Given the description of an element on the screen output the (x, y) to click on. 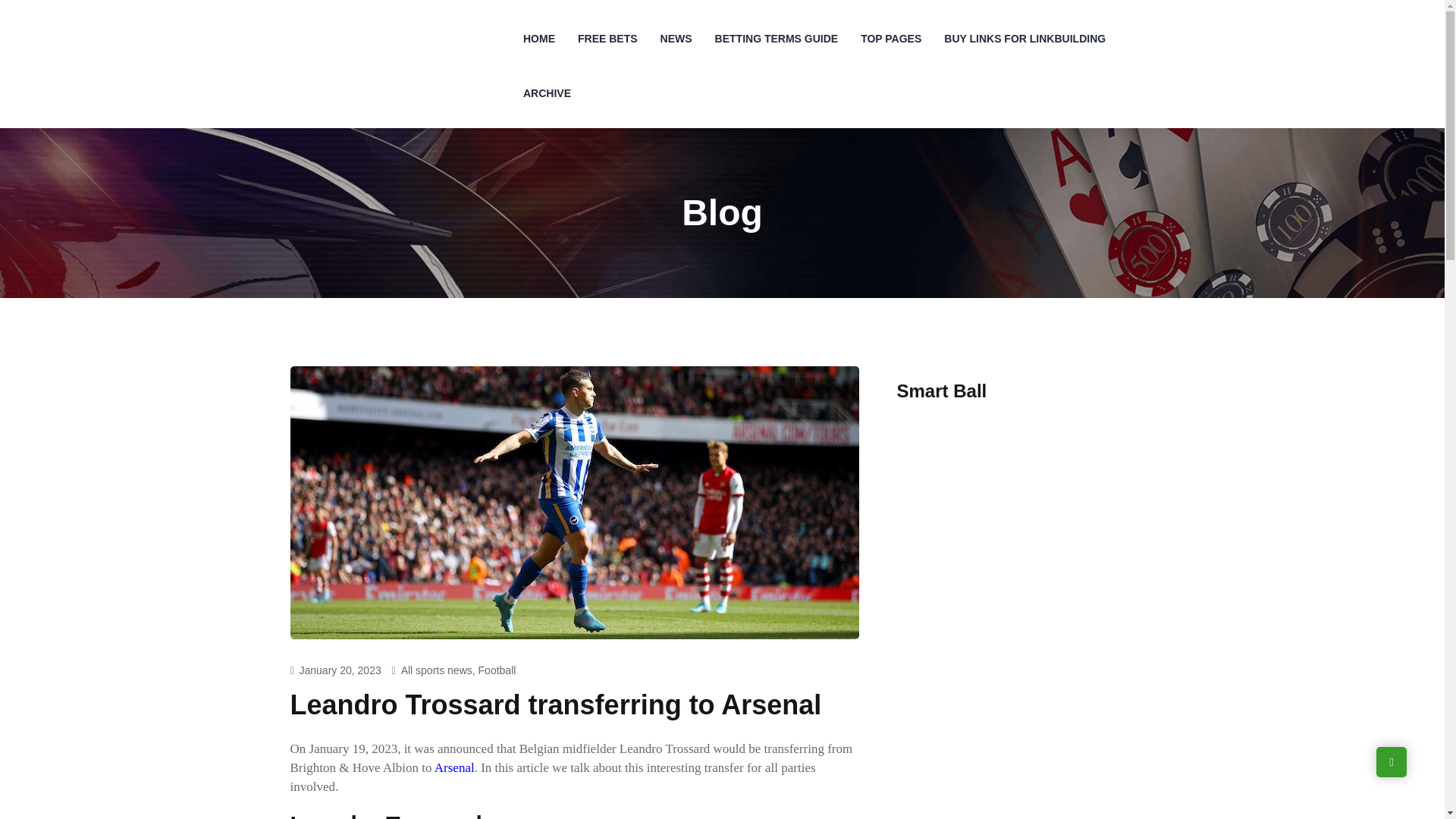
Arsenal (453, 767)
ARCHIVE (547, 93)
BETTING TERMS GUIDE (776, 38)
All sports news (436, 670)
BUY LINKS FOR LINKBUILDING (1024, 38)
FREE BETS (607, 38)
Football (497, 670)
TOP PAGES (890, 38)
HOME (539, 38)
NEWS (676, 38)
